Given the description of an element on the screen output the (x, y) to click on. 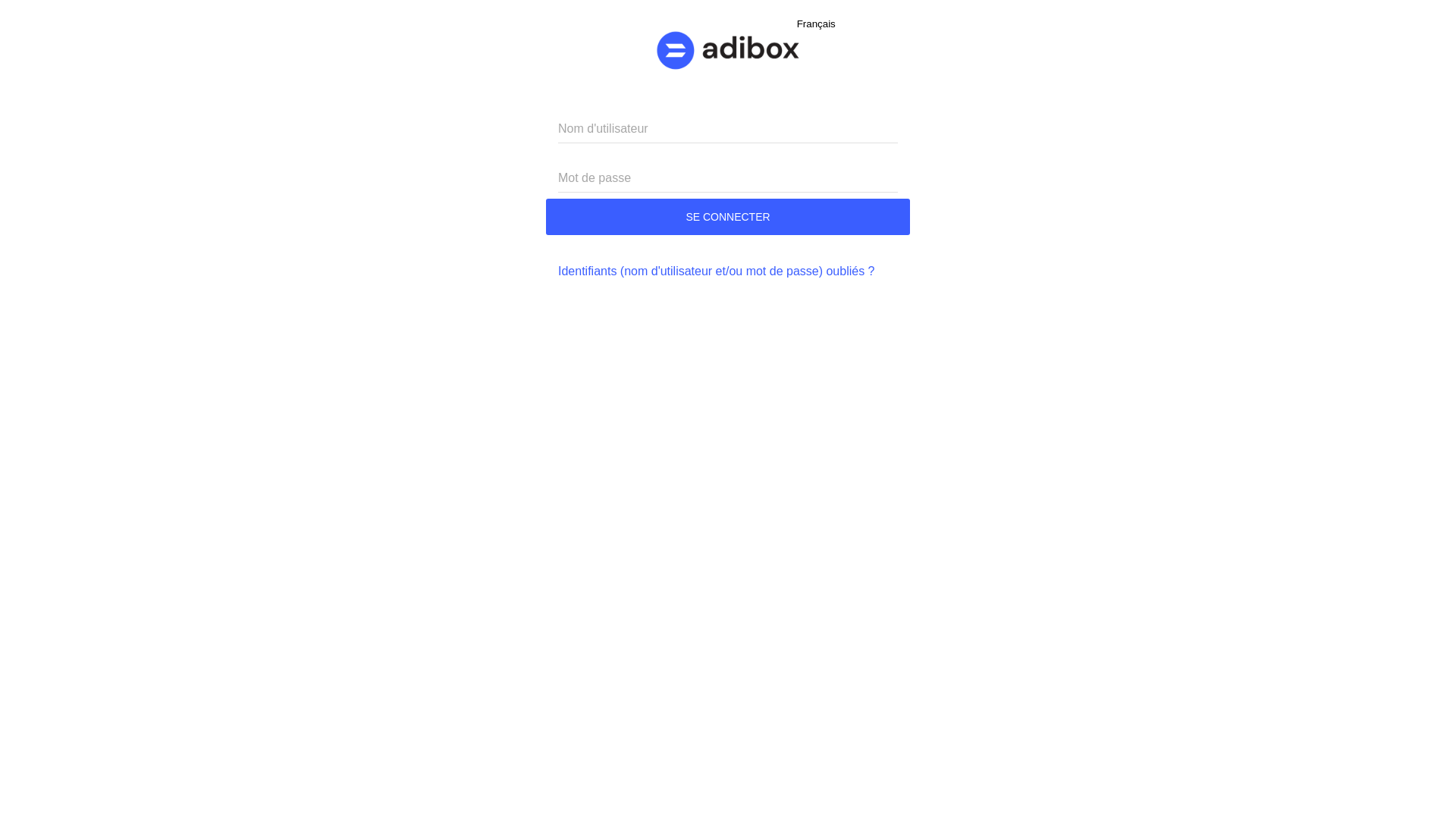
Se connecter Element type: text (728, 216)
